Given the description of an element on the screen output the (x, y) to click on. 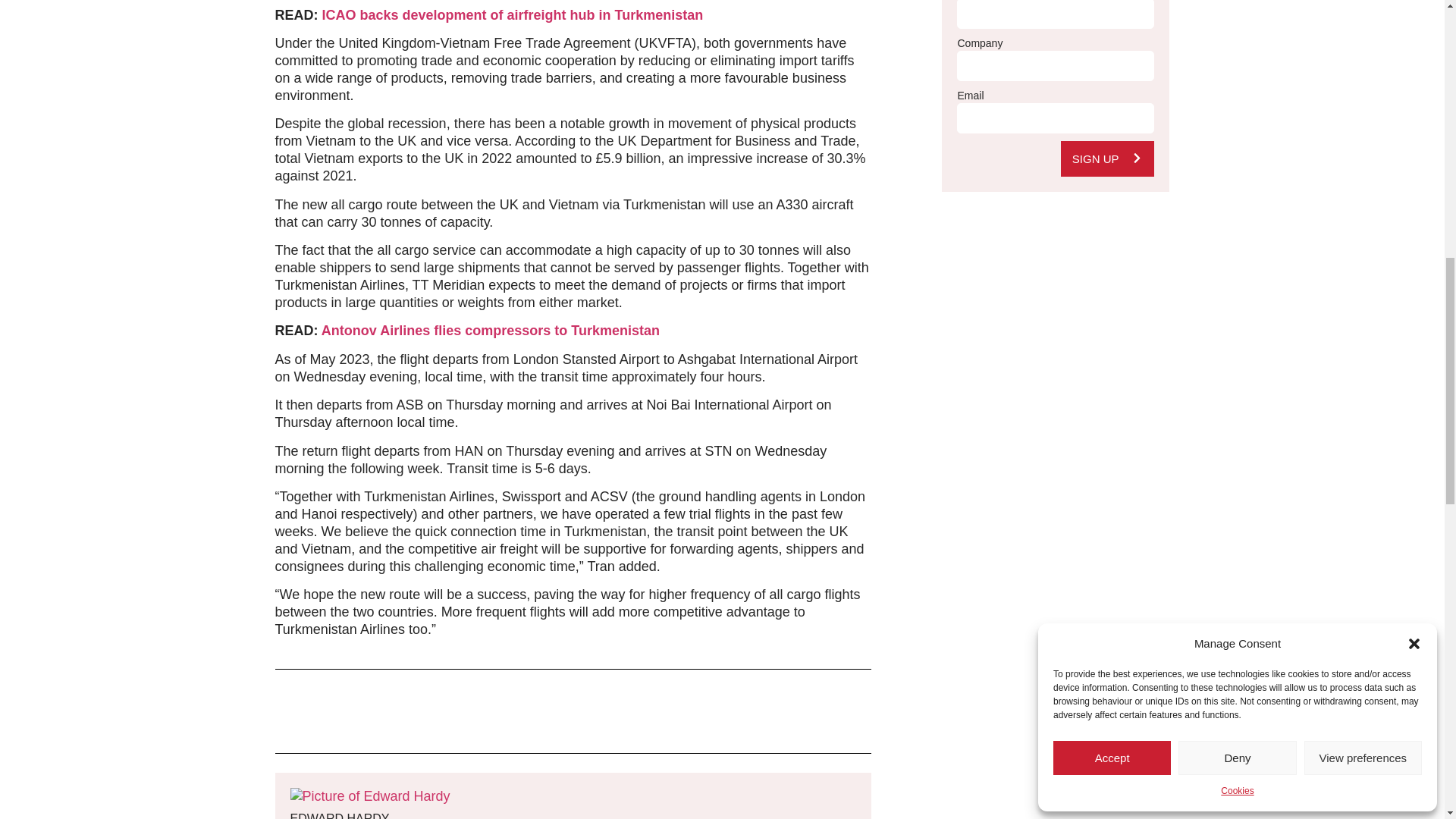
ICAO backs development of airfreight hub in Turkmenistan (512, 14)
Antonov Airlines flies compressors to Turkmenistan (490, 330)
Antonov Airlines flies compressors to Turkmenistan (490, 330)
ICAO backs development of airfreight hub in Turkmenistan (512, 14)
